Given the description of an element on the screen output the (x, y) to click on. 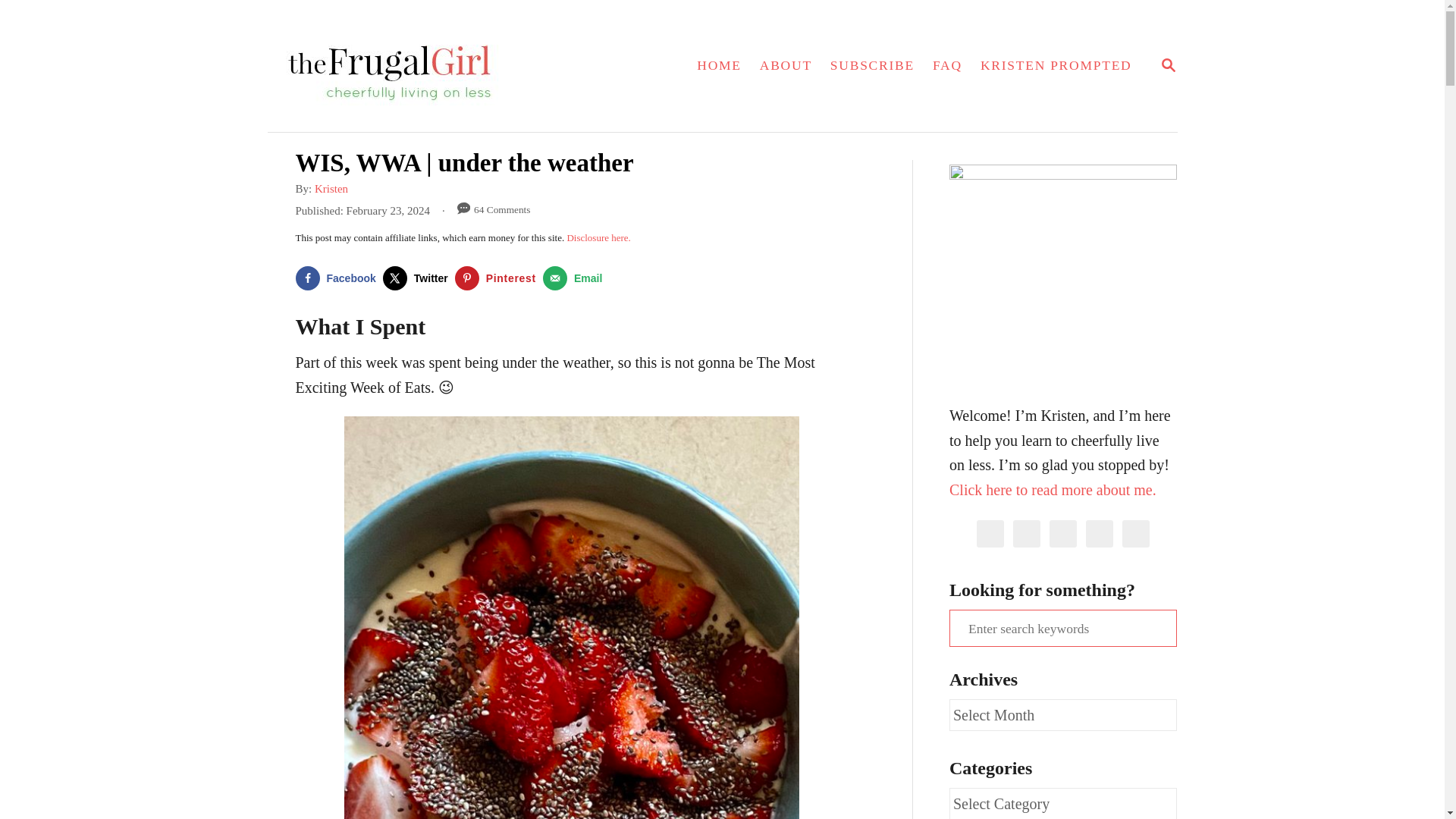
Save to Pinterest (498, 278)
Click here to read more about me. (1052, 488)
Twitter (418, 278)
ABOUT (786, 65)
The Frugal Girl (428, 65)
Facebook (1167, 65)
KRISTEN PROMPTED (338, 278)
Email (1056, 65)
HOME (575, 278)
